Given the description of an element on the screen output the (x, y) to click on. 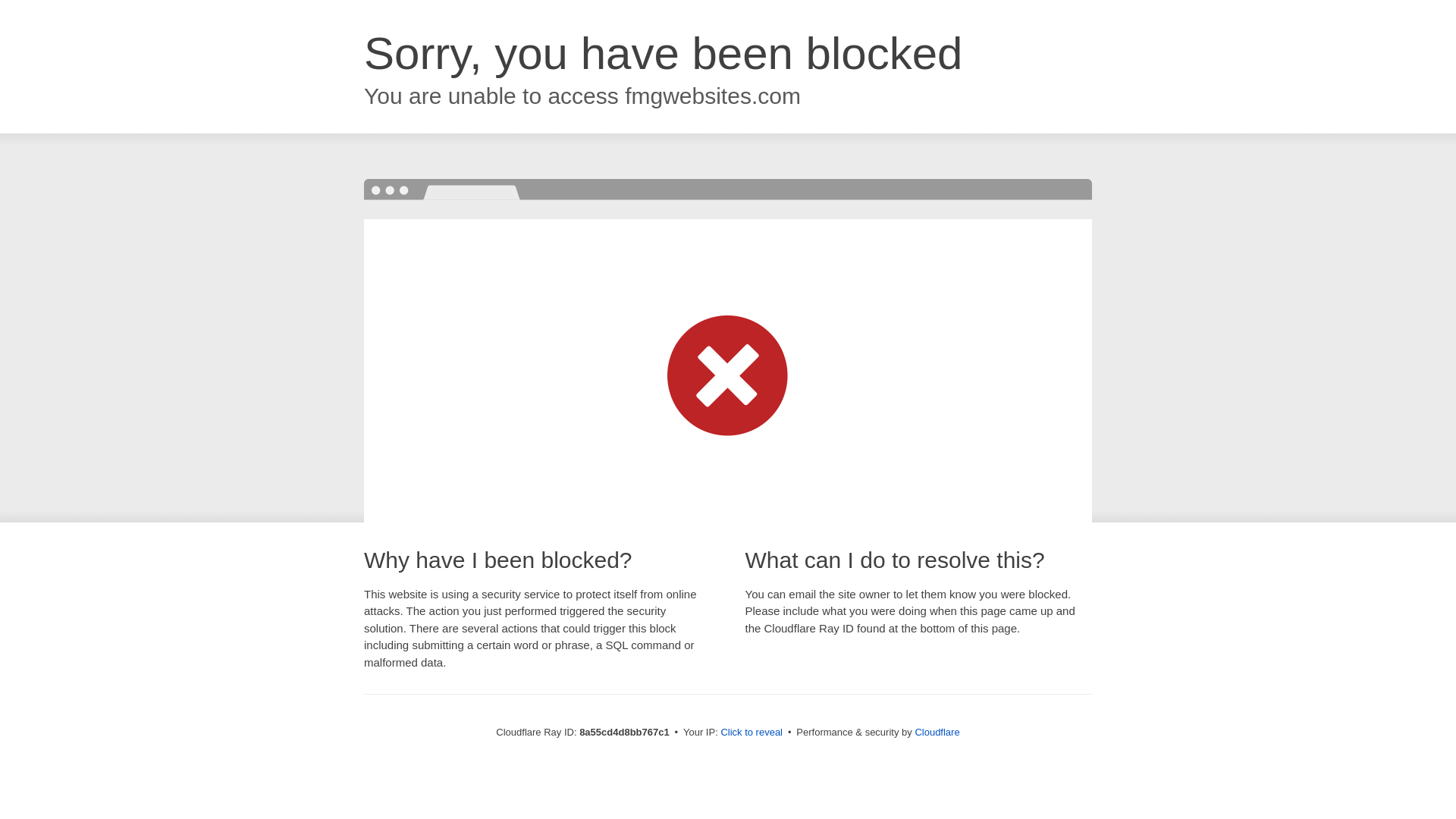
Click to reveal (751, 732)
Cloudflare (936, 731)
